Given the description of an element on the screen output the (x, y) to click on. 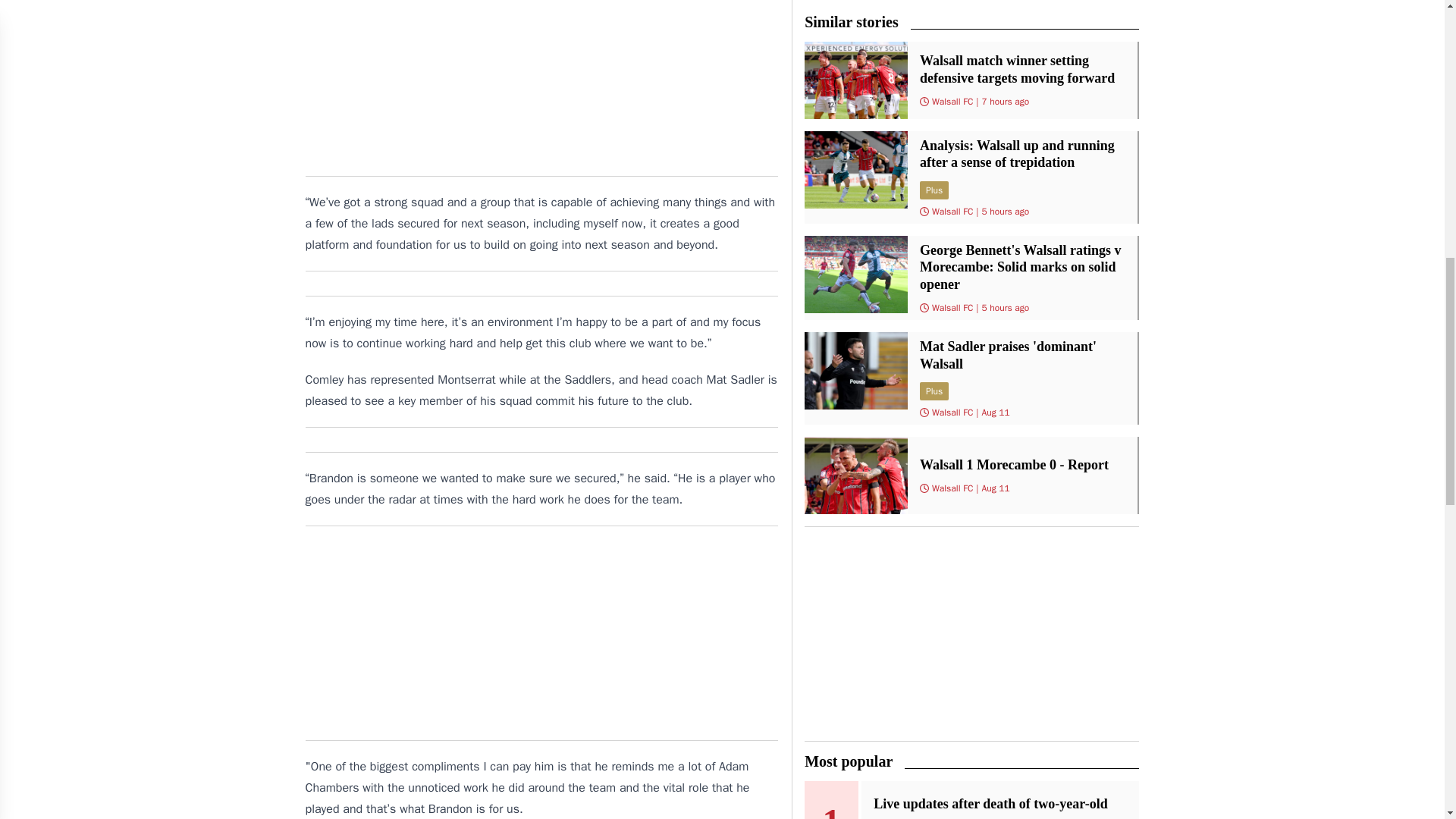
Walsall FC (951, 211)
Walsall FC (951, 412)
Walsall FC (951, 101)
Walsall FC (951, 307)
Walsall FC (951, 488)
